Given the description of an element on the screen output the (x, y) to click on. 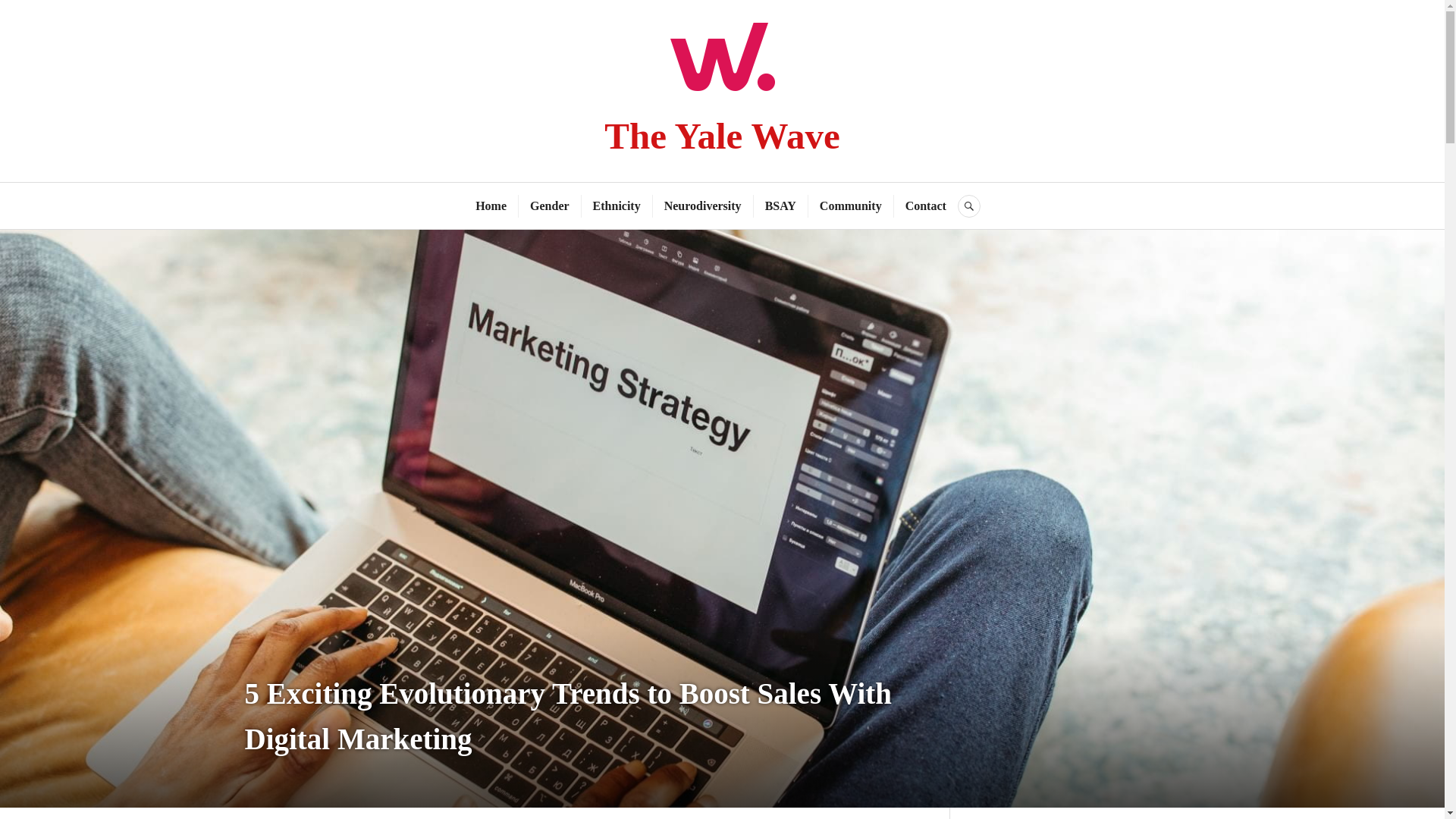
Home (491, 205)
Gender (549, 205)
SEARCH (968, 205)
Neurodiversity (702, 205)
Contact (925, 205)
The Yale Wave (722, 136)
Ethnicity (616, 205)
BSAY (780, 205)
Community (850, 205)
